Given the description of an element on the screen output the (x, y) to click on. 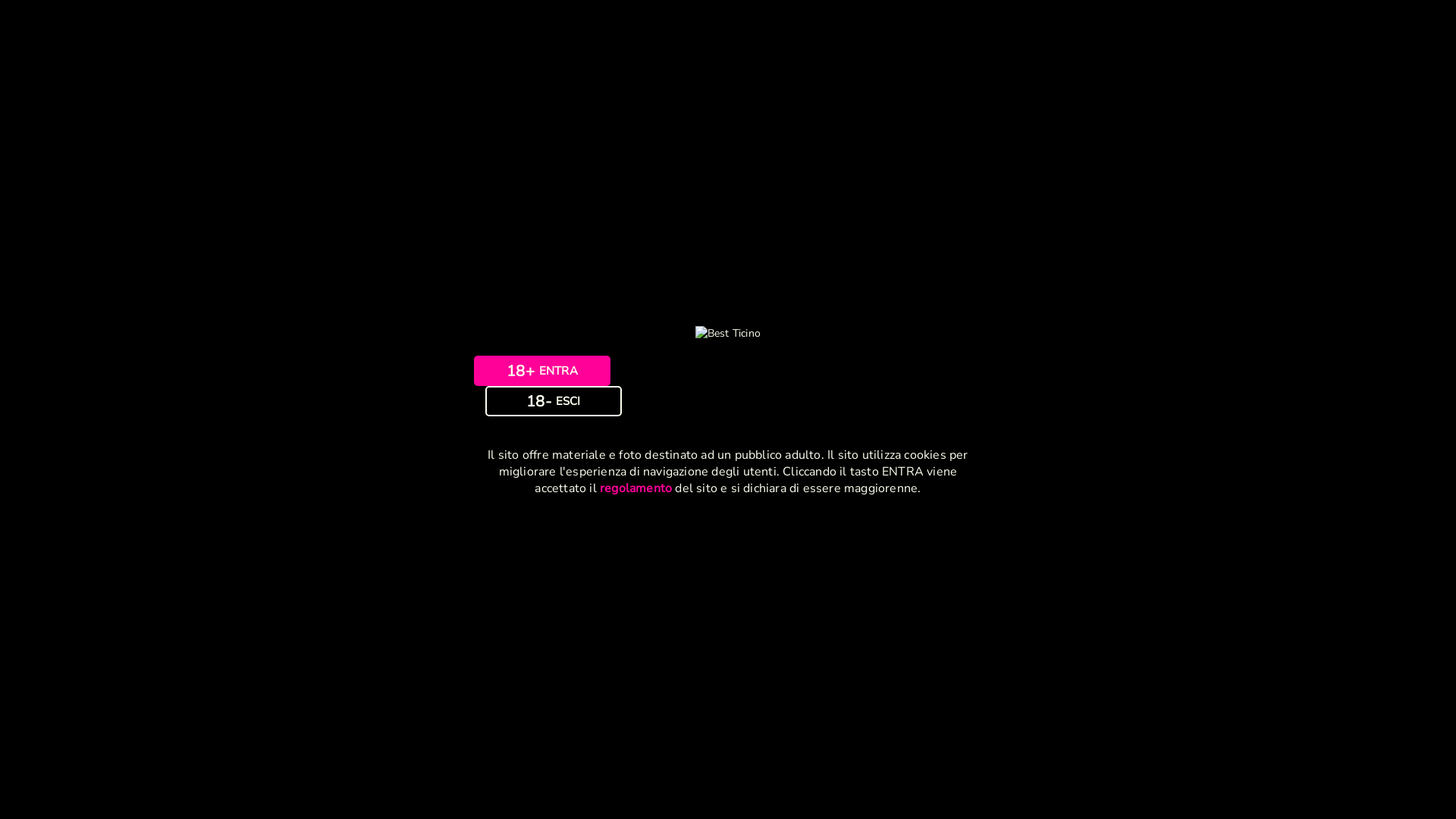
regolamento Element type: text (635, 488)
18-
ESCI Element type: text (553, 400)
